Given the description of an element on the screen output the (x, y) to click on. 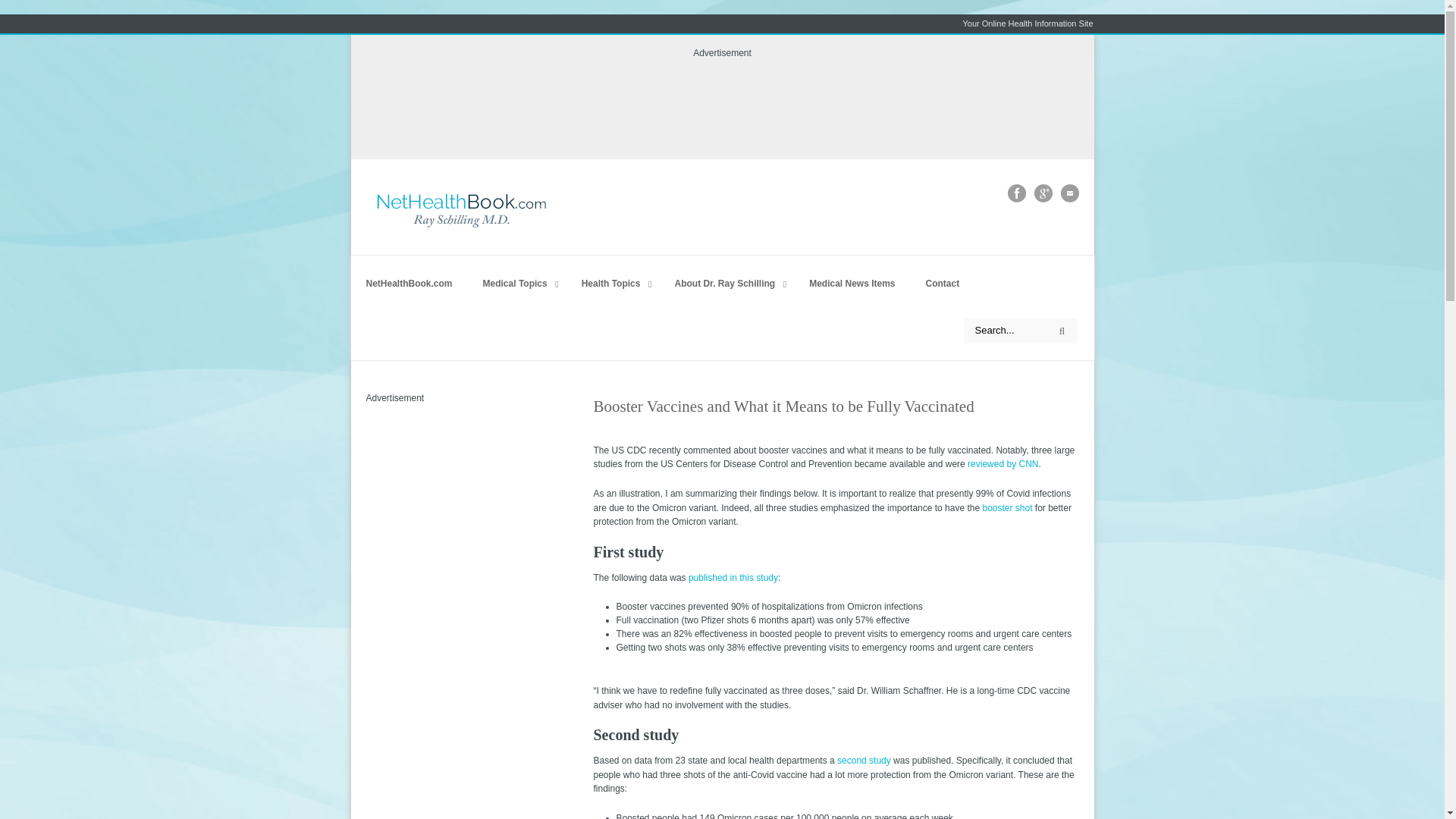
Contact (943, 284)
Health Topics (612, 284)
Advertisement (440, 495)
Medical News Items (851, 284)
Advertisement (721, 109)
NetHealthBook.com (408, 284)
About Dr. Ray Schilling (726, 284)
Medical Topics (516, 284)
